Given the description of an element on the screen output the (x, y) to click on. 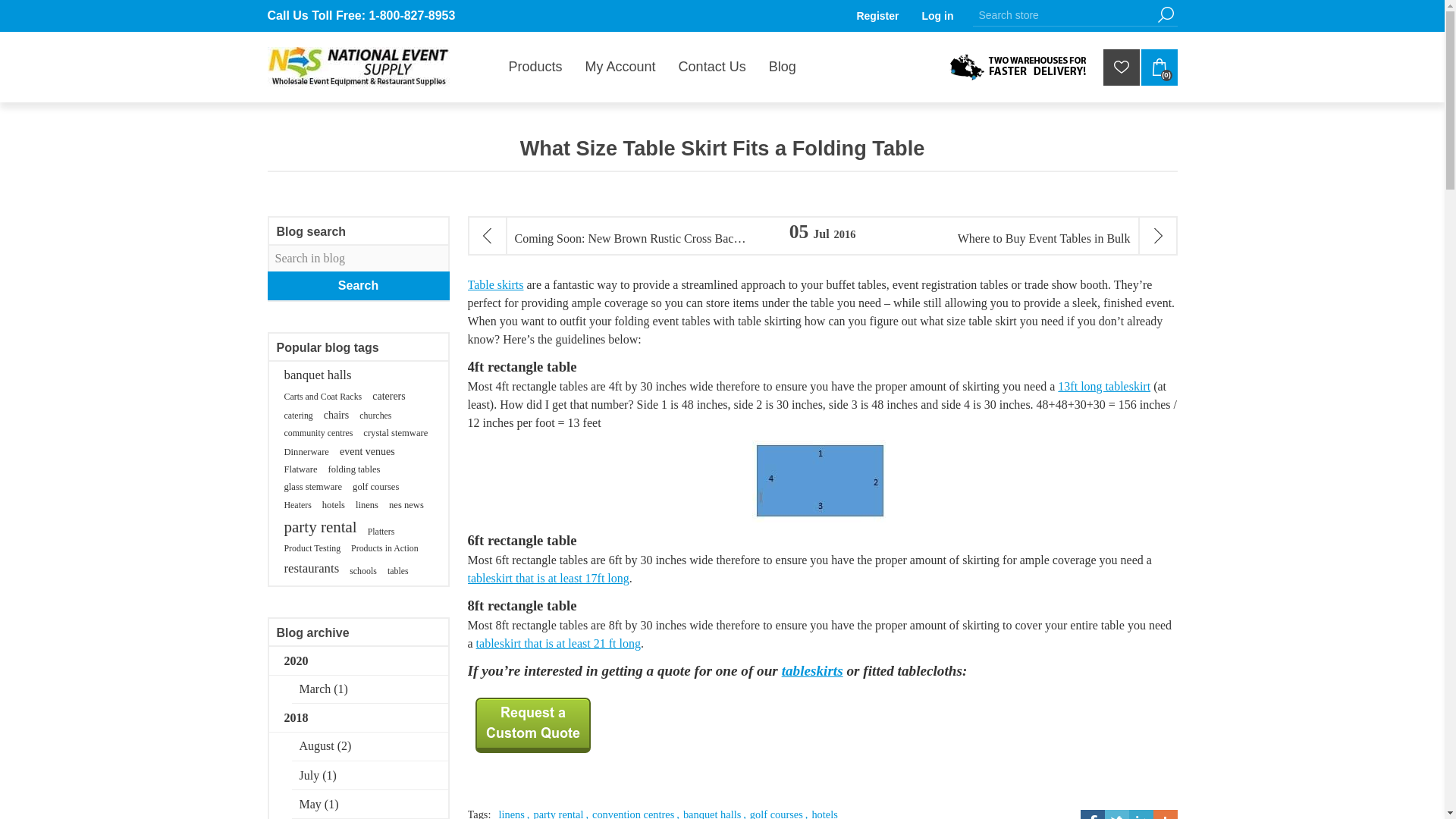
Log in (937, 15)
Search (1165, 14)
Search (1165, 14)
Register (877, 15)
Search (1165, 14)
